Given the description of an element on the screen output the (x, y) to click on. 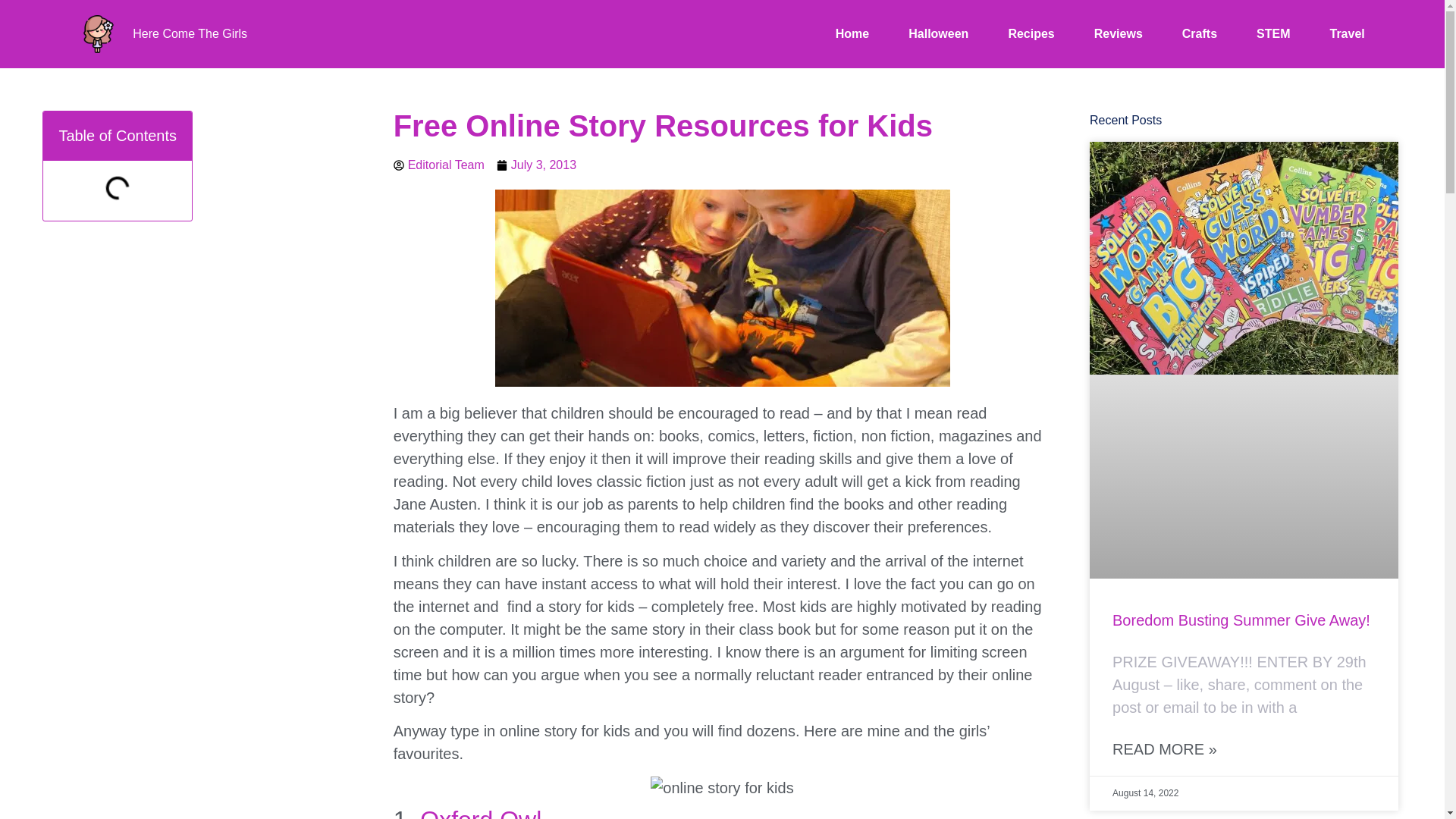
Home (852, 34)
Crafts (1199, 34)
Halloween (938, 34)
Here Come The Girls (189, 33)
July 3, 2013 (536, 165)
Travel (1346, 34)
Editorial Team (438, 165)
Recipes (1030, 34)
Oxford Owl (480, 812)
Reviews (1118, 34)
